Given the description of an element on the screen output the (x, y) to click on. 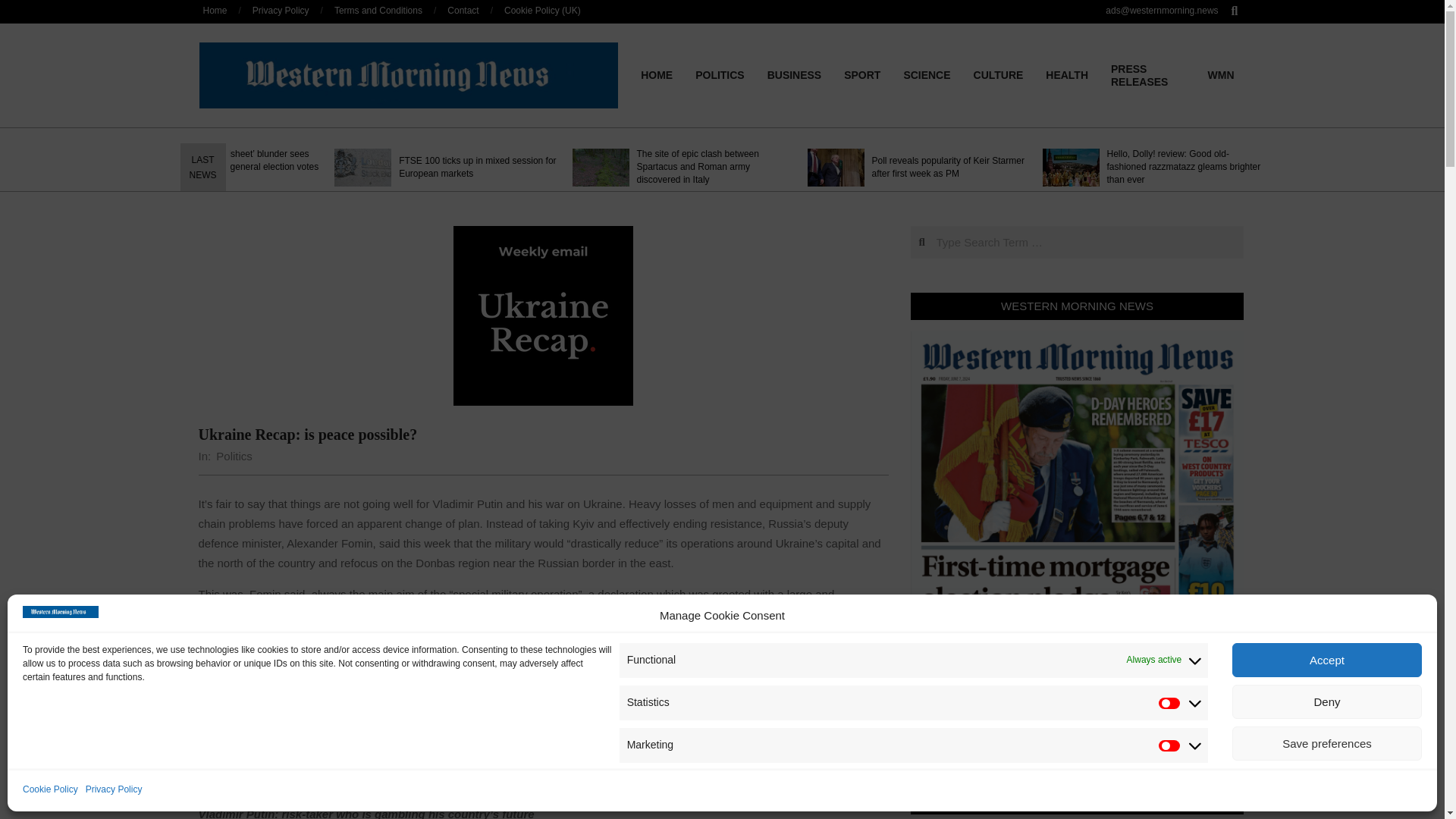
Cookie Policy (50, 790)
WMN (1221, 74)
FTSE 100 ticks up in mixed session for European markets (477, 167)
Home (215, 9)
SCIENCE (925, 74)
Accept (1326, 659)
Save preferences (1326, 743)
CULTURE (998, 74)
BUSINESS (793, 74)
Privacy Policy (113, 790)
HEALTH (1066, 74)
SPORT (861, 74)
